Given the description of an element on the screen output the (x, y) to click on. 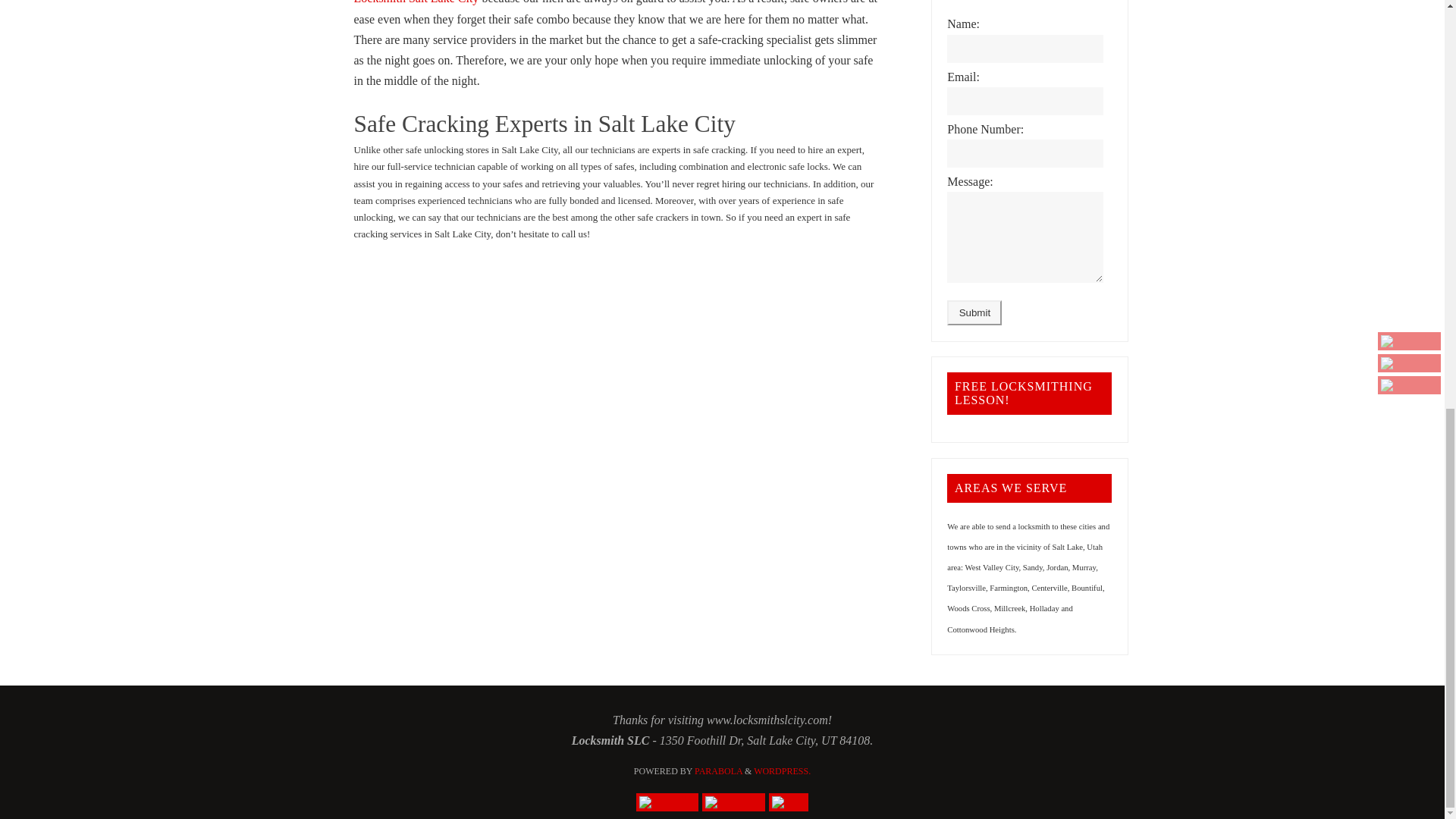
YouTube (667, 802)
WORDPRESS. (782, 770)
PARABOLA (718, 770)
Semantic Personal Publishing Platform (782, 770)
Submit (974, 312)
Locksmith Salt Lake City (416, 2)
Parabola Theme by Cryout Creations (718, 770)
RSS (788, 802)
LinkedIn (733, 802)
Submit (974, 312)
